Given the description of an element on the screen output the (x, y) to click on. 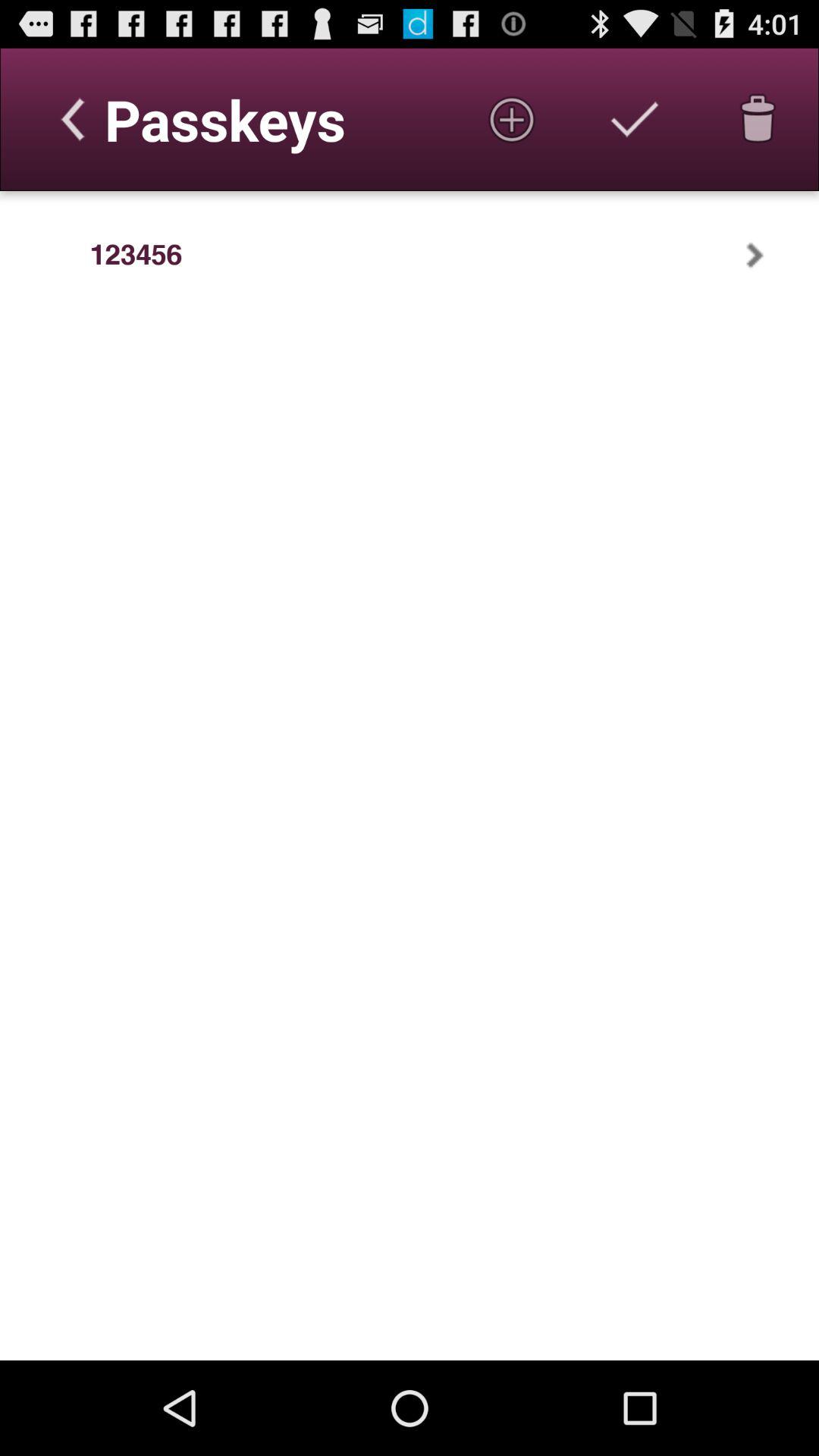
create new (511, 119)
